Given the description of an element on the screen output the (x, y) to click on. 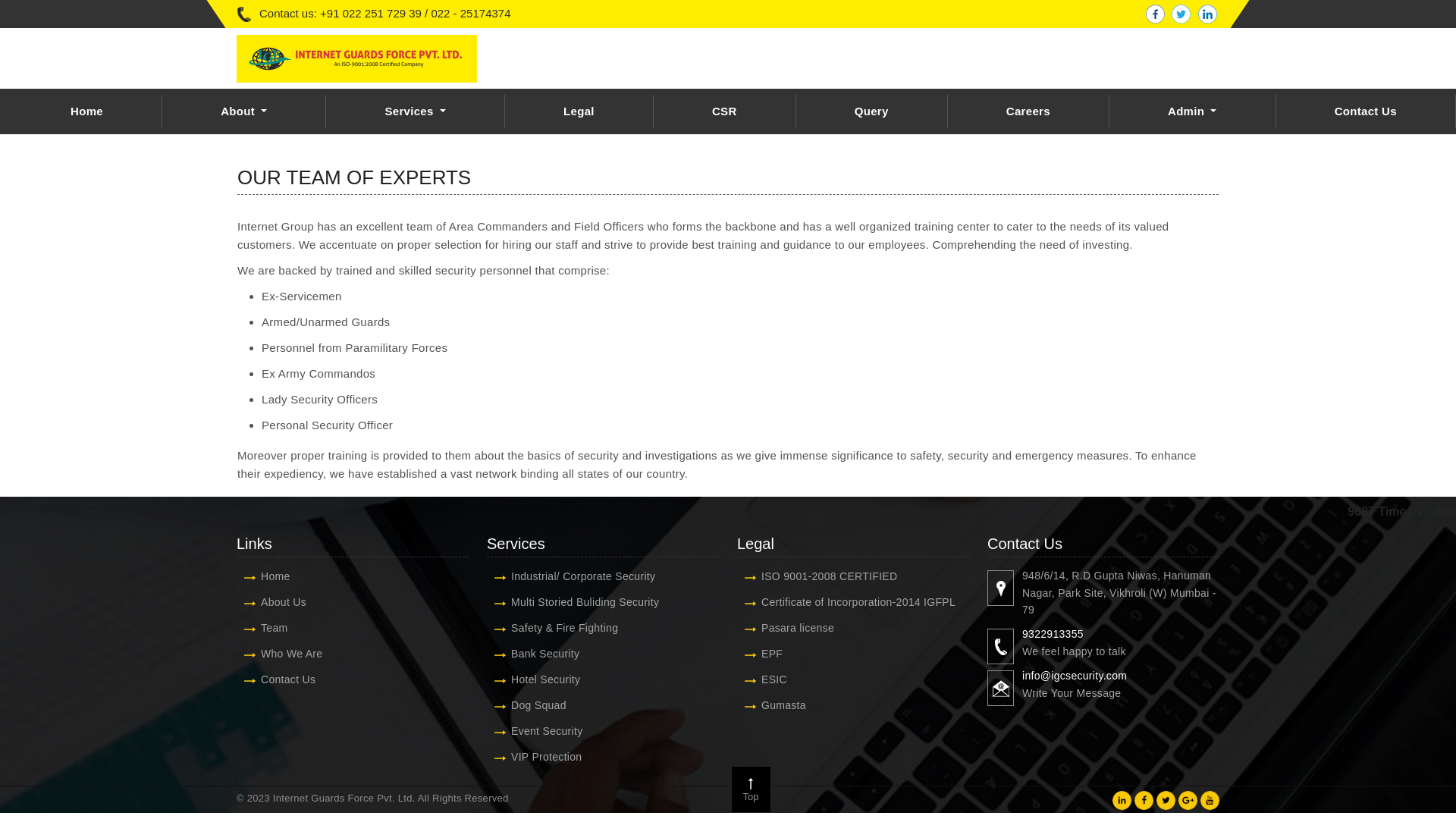
Home (274, 576)
Query (871, 111)
Contact Us (287, 679)
About Us (282, 602)
Team (273, 627)
Query (871, 111)
Bank Security (545, 653)
Admin  (1192, 111)
Multi Storied Buliding Security (585, 602)
Careers (1027, 111)
Legal (578, 111)
CSR (723, 111)
Careers (1027, 111)
Who We Are (290, 653)
Services  (414, 111)
